Given the description of an element on the screen output the (x, y) to click on. 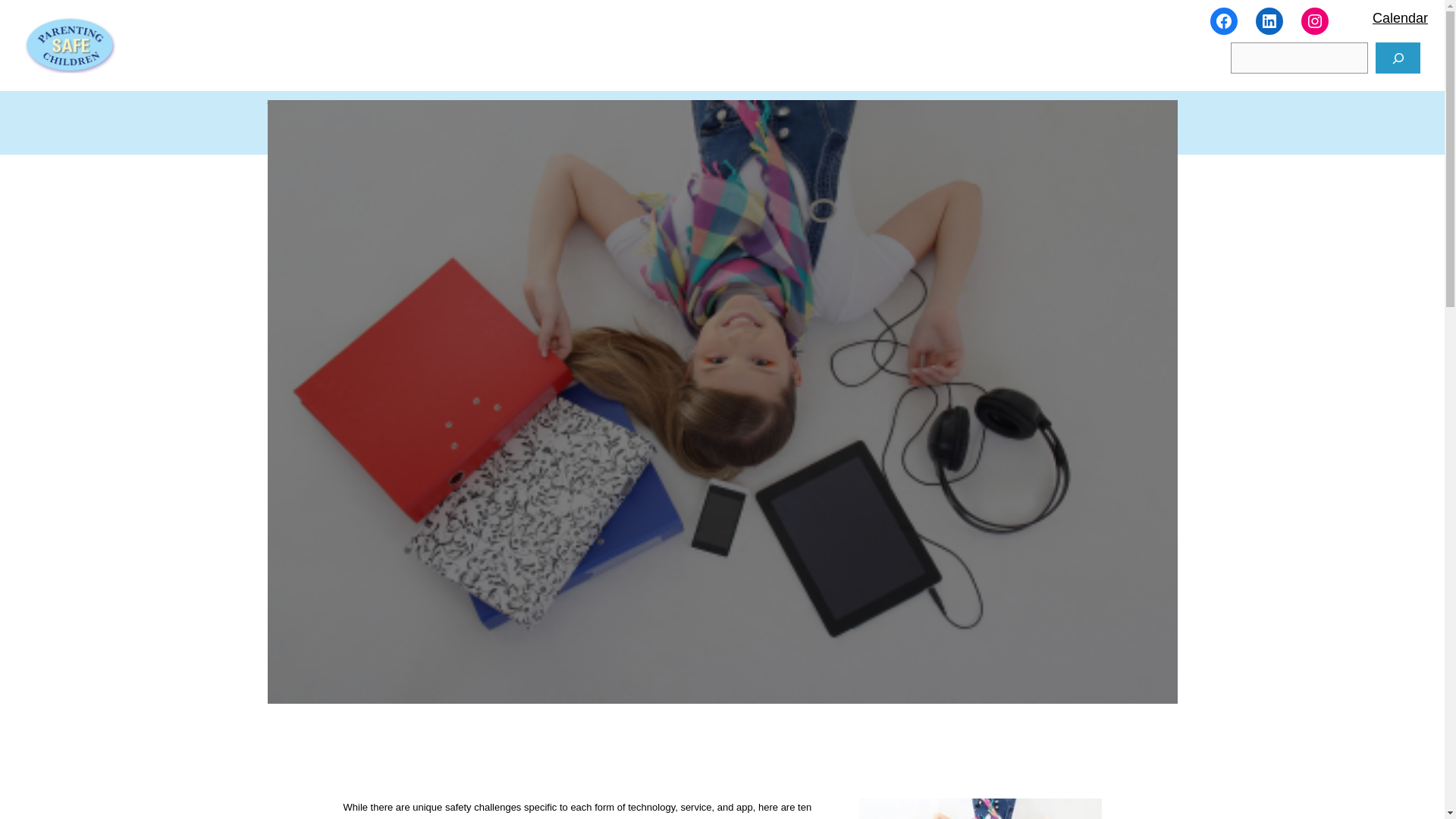
FAQs (643, 107)
Workshops (296, 107)
Testimonials (577, 107)
Consultations (392, 107)
LinkedIn (1268, 21)
Resources (486, 107)
Contact (749, 107)
Keeping Kids Safe Online (979, 808)
Instagram (1314, 21)
Facebook (1223, 21)
Calendar (1400, 17)
About (694, 107)
PSC Shop (815, 107)
